Given the description of an element on the screen output the (x, y) to click on. 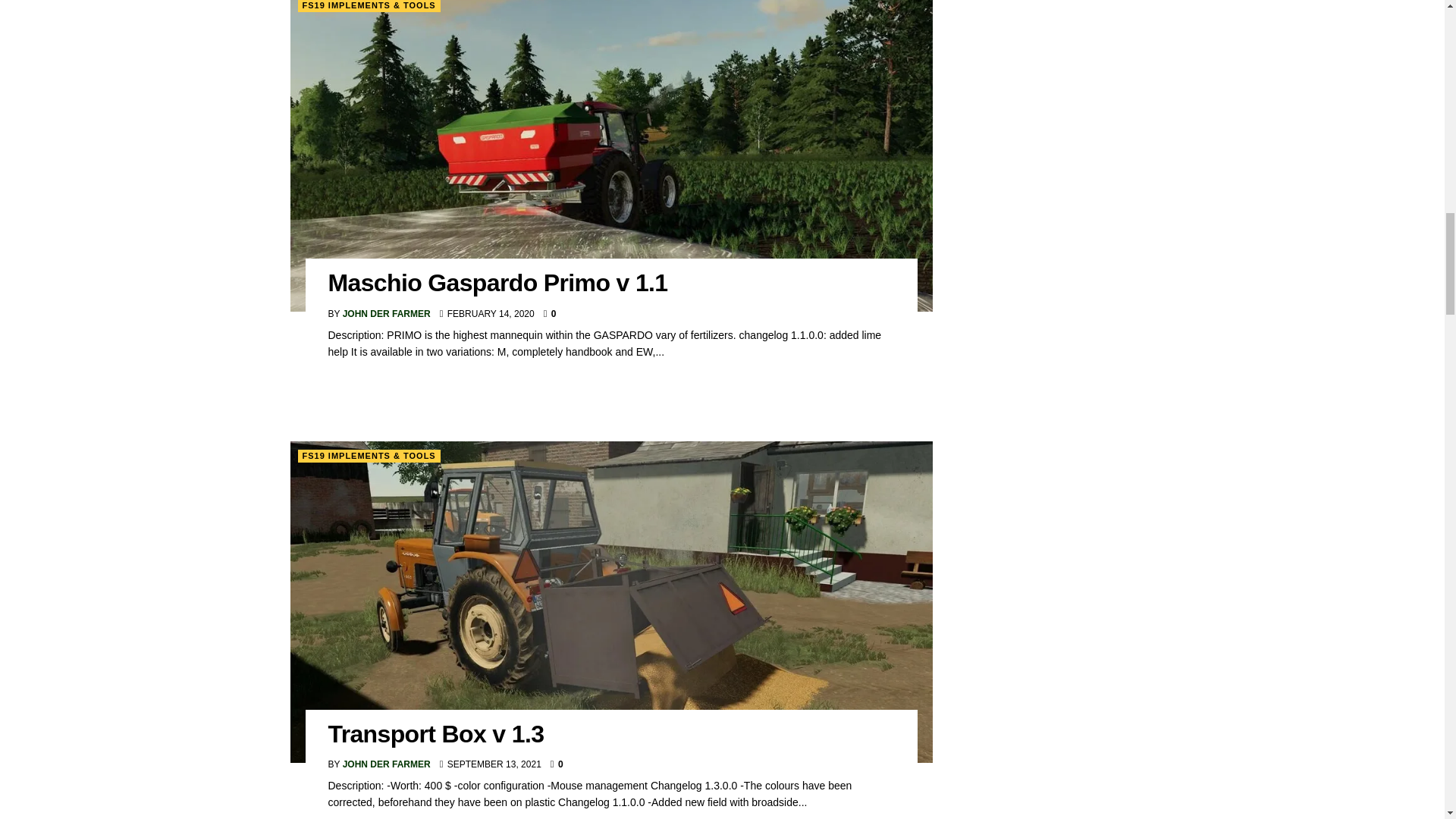
Maschio Gaspardo Primo v 1.1 (496, 282)
JOHN DER FARMER (386, 313)
Transport Box v 1.3 (435, 733)
0 (549, 313)
JOHN DER FARMER (386, 764)
FEBRUARY 14, 2020 (486, 313)
